Given the description of an element on the screen output the (x, y) to click on. 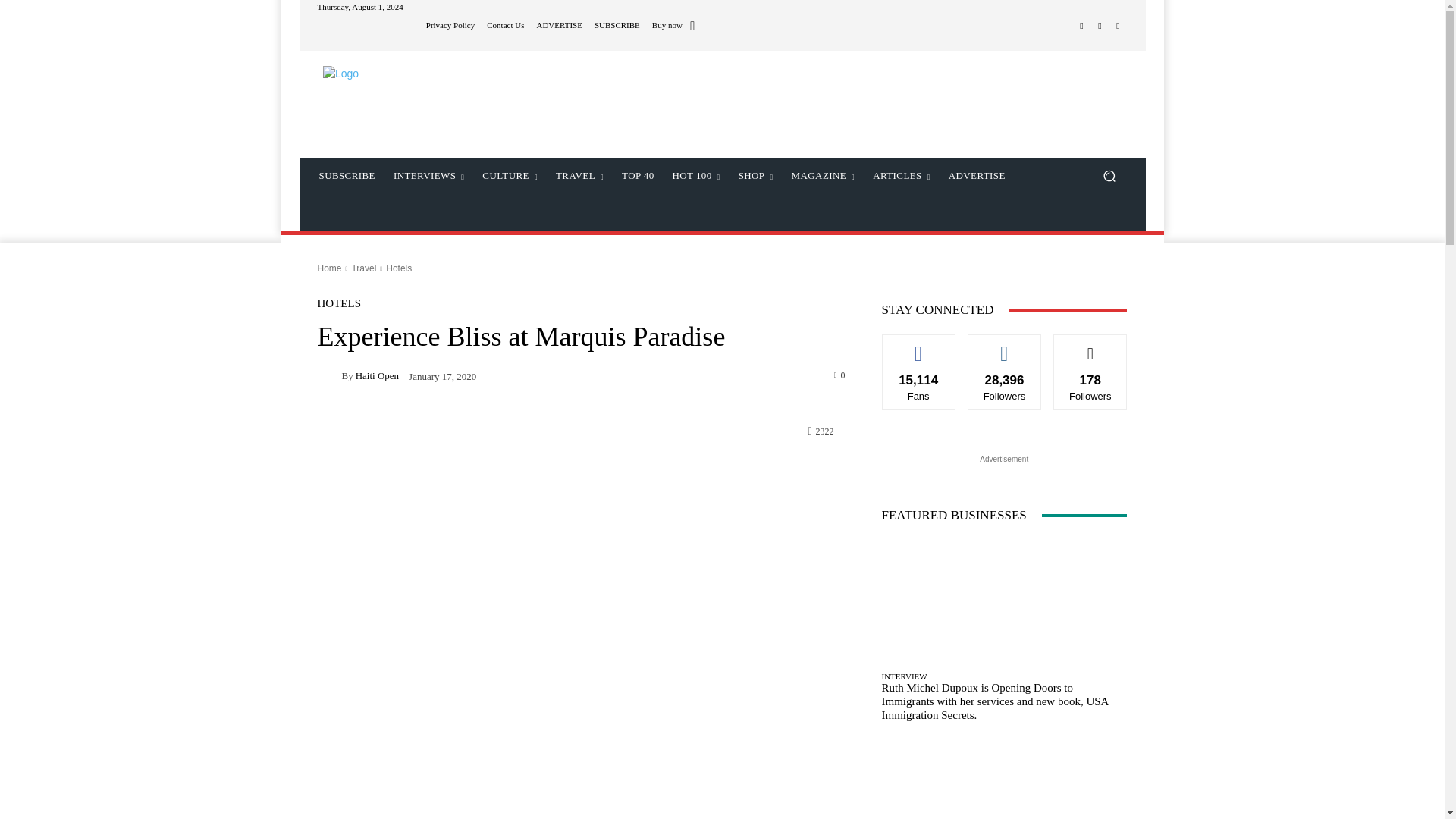
SUBSCRIBE (617, 25)
ADVERTISE (557, 25)
Twitter (1117, 25)
Instagram (1099, 25)
Privacy Policy (450, 25)
Facebook (1080, 25)
Contact Us (505, 25)
